Given the description of an element on the screen output the (x, y) to click on. 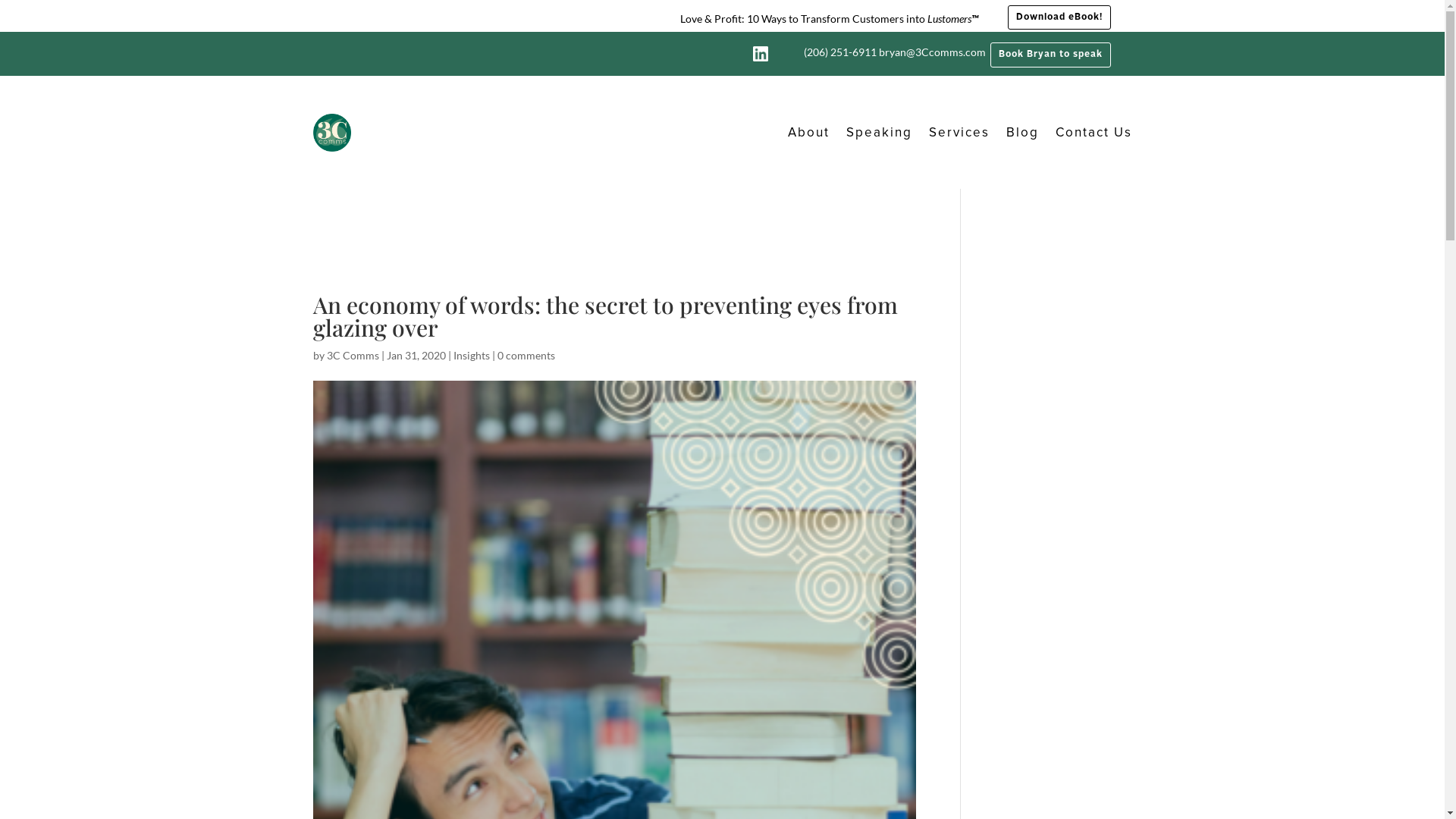
Services Element type: text (958, 132)
Insights Element type: text (471, 354)
Speaking Element type: text (879, 132)
Download eBook! Element type: text (1058, 17)
Contact Us Element type: text (1093, 132)
Linked-in Element type: hover (760, 53)
3C Comms Element type: text (352, 354)
Blog Element type: text (1021, 132)
0 comments Element type: text (526, 354)
(206) 251-6911 Element type: text (839, 51)
Book Bryan to speak Element type: text (1050, 54)
bryan@3Ccomms.com Element type: text (931, 51)
About Element type: text (807, 132)
